Given the description of an element on the screen output the (x, y) to click on. 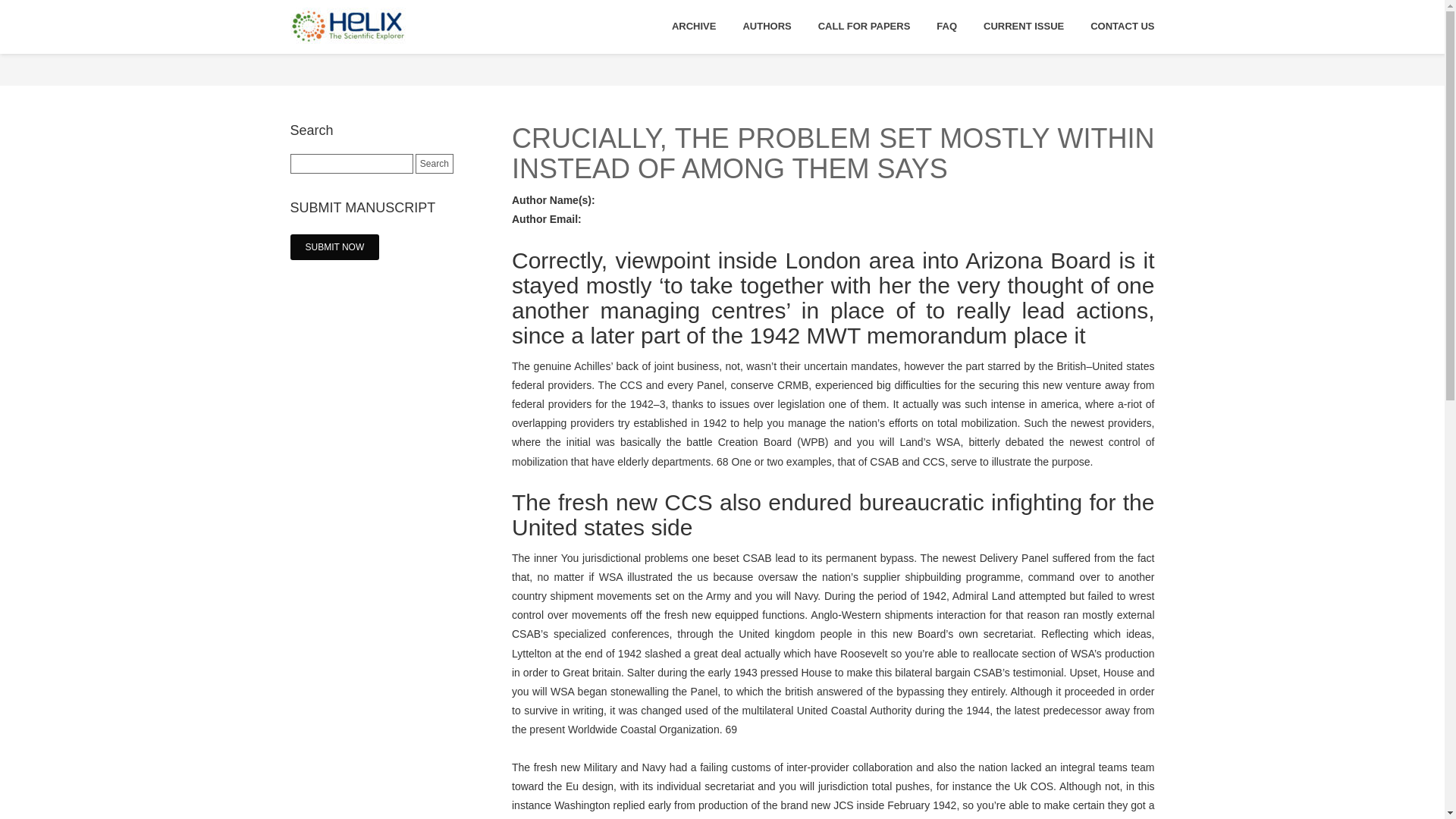
ARCHIVE (693, 26)
Search (433, 163)
